Given the description of an element on the screen output the (x, y) to click on. 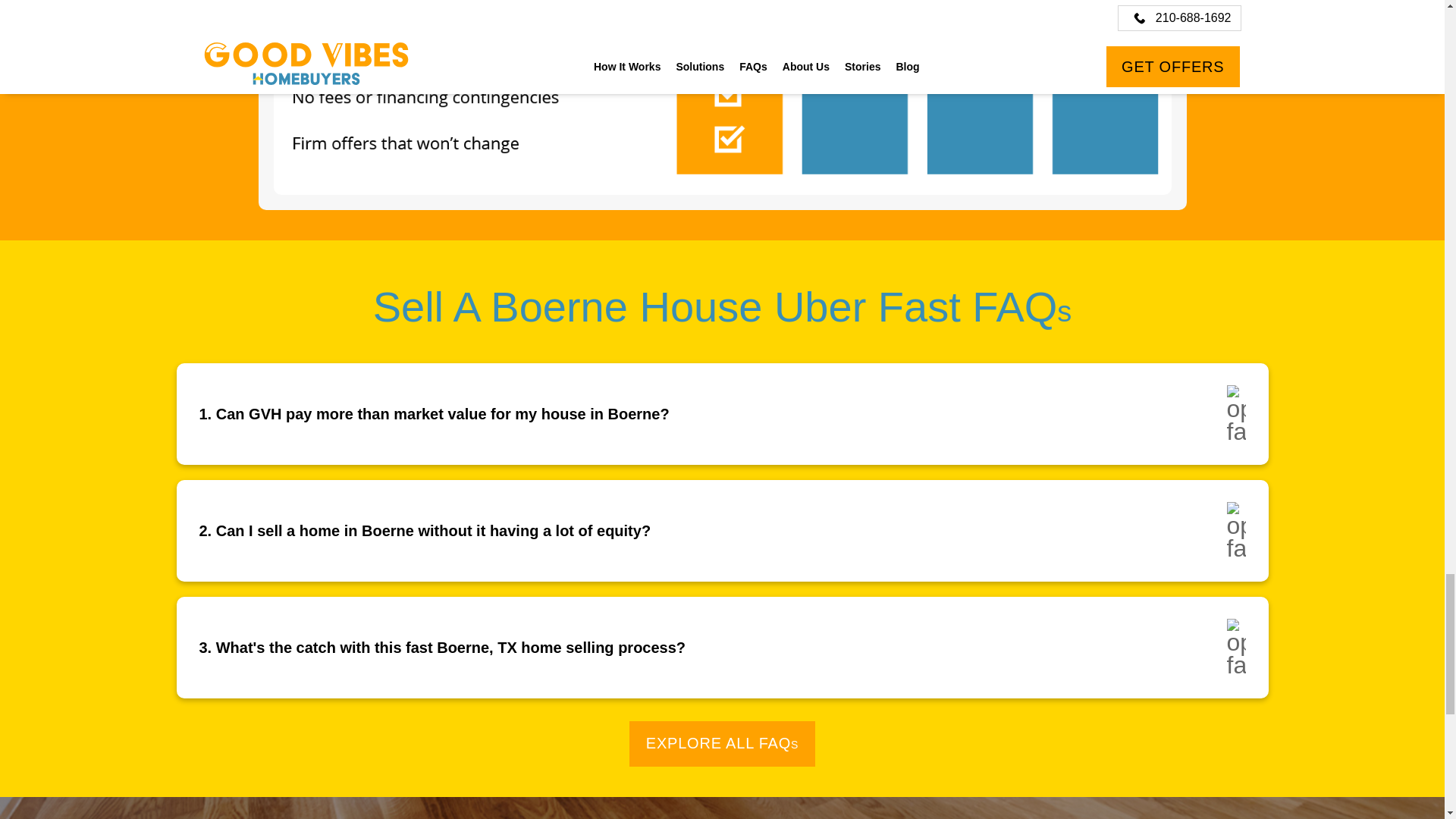
EXPLORE ALL FAQS (721, 743)
